Given the description of an element on the screen output the (x, y) to click on. 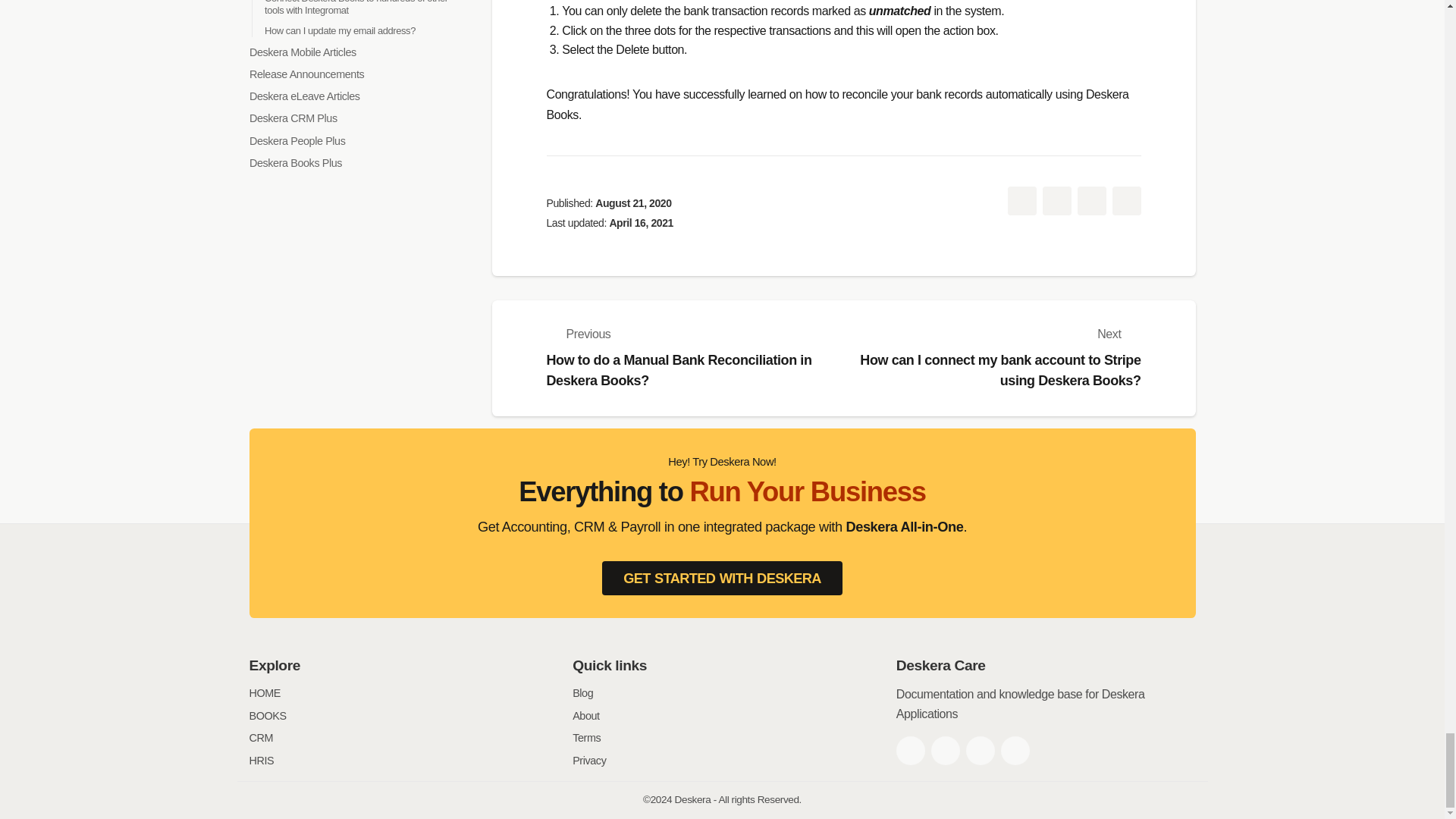
Deskera Linkedin (980, 750)
Twitter (945, 750)
Facebook (910, 750)
Deskera YouTube (1015, 750)
